Given the description of an element on the screen output the (x, y) to click on. 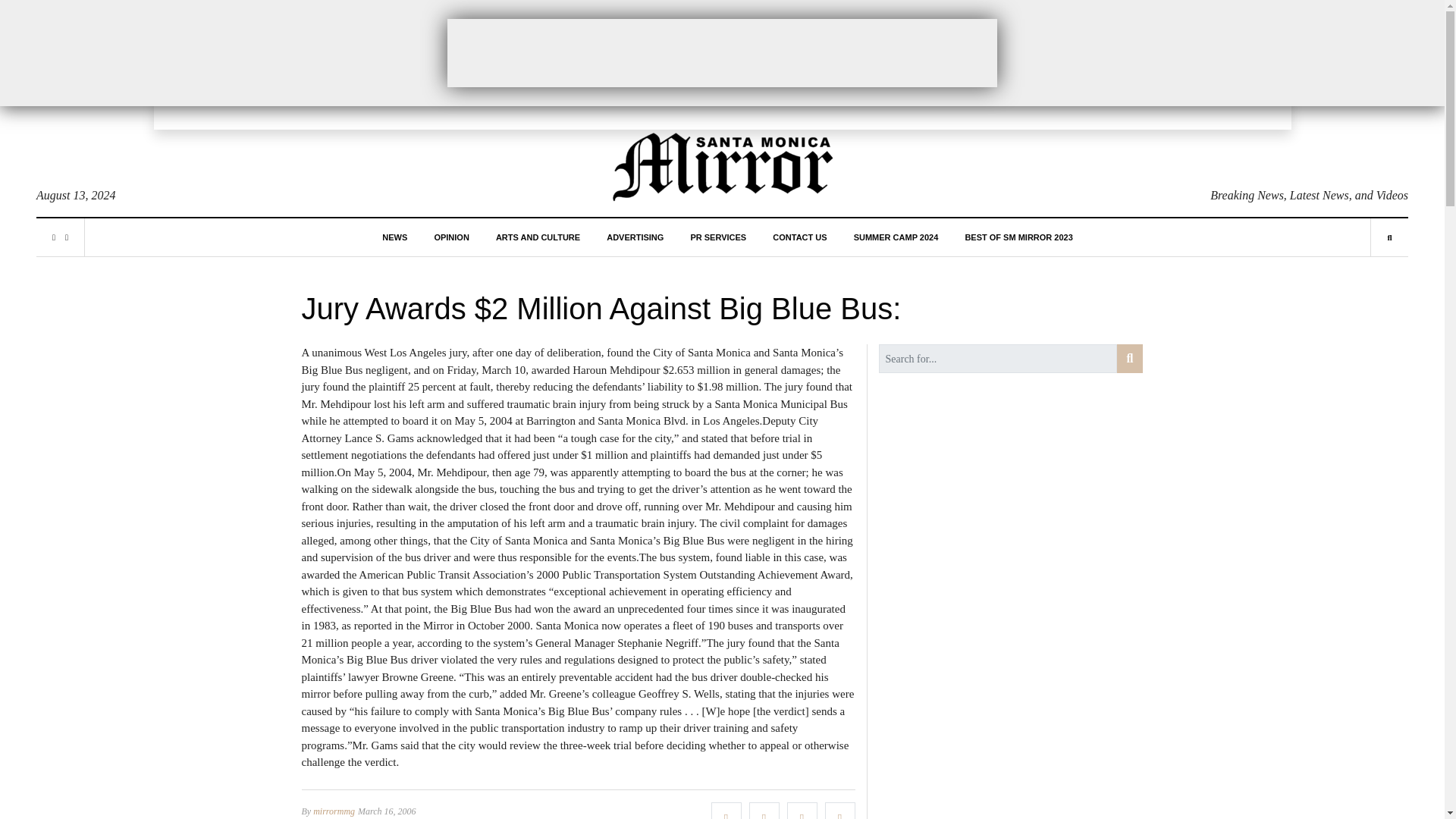
SUMMER CAMP 2024 (896, 237)
ADVERTISING (635, 237)
CONTACT US (800, 237)
ARTS AND CULTURE (537, 237)
OPINION (450, 237)
Posts by mirrormmg (334, 810)
BEST OF SM MIRROR 2023 (1017, 237)
3rd party ad content (721, 52)
mirrormmg (334, 810)
PR SERVICES (717, 237)
